Given the description of an element on the screen output the (x, y) to click on. 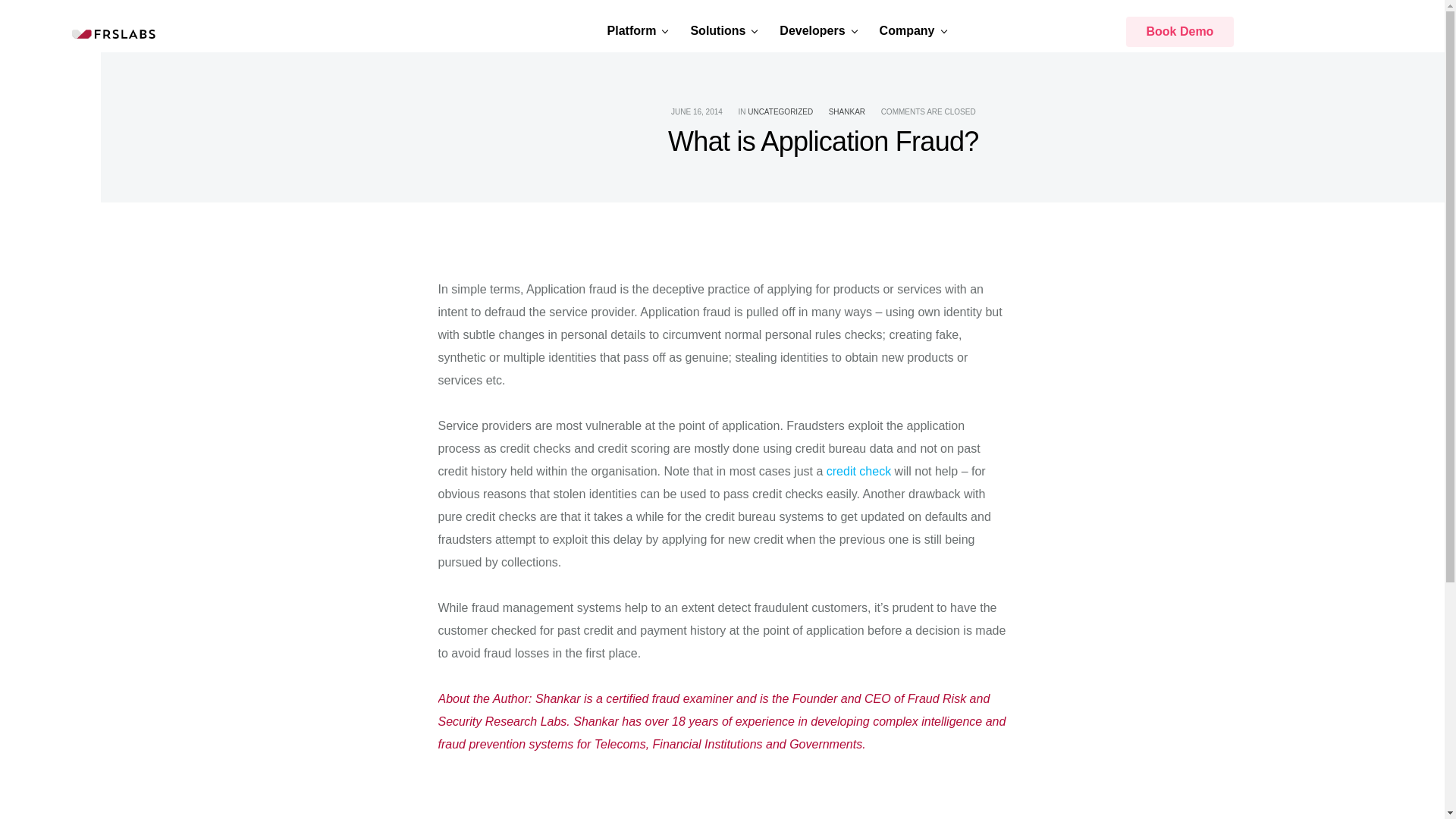
Platform (633, 30)
Posts by Shankar (846, 111)
UNCATEGORIZED (780, 111)
Solutions (719, 30)
Developers (813, 30)
Company (908, 30)
SHANKAR (846, 111)
credit check (859, 471)
Book Demo (1179, 31)
